Given the description of an element on the screen output the (x, y) to click on. 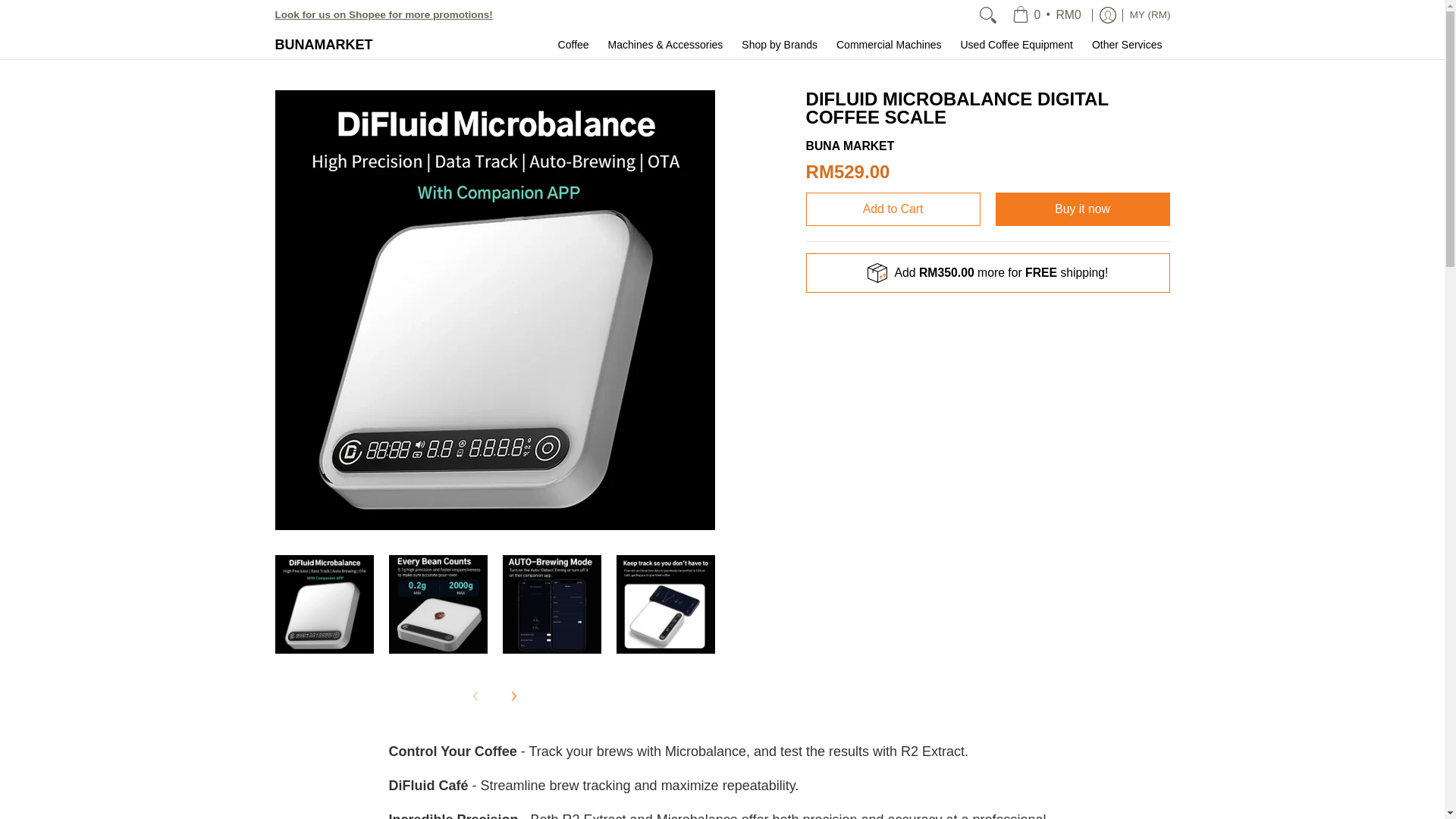
Log in (1107, 15)
AE (1090, 26)
Cart (1046, 15)
Look for us on Shopee for more promotions! (383, 14)
Coffee (573, 44)
GB (1077, 63)
US (1070, 99)
BUNAMARKET (323, 44)
